Given the description of an element on the screen output the (x, y) to click on. 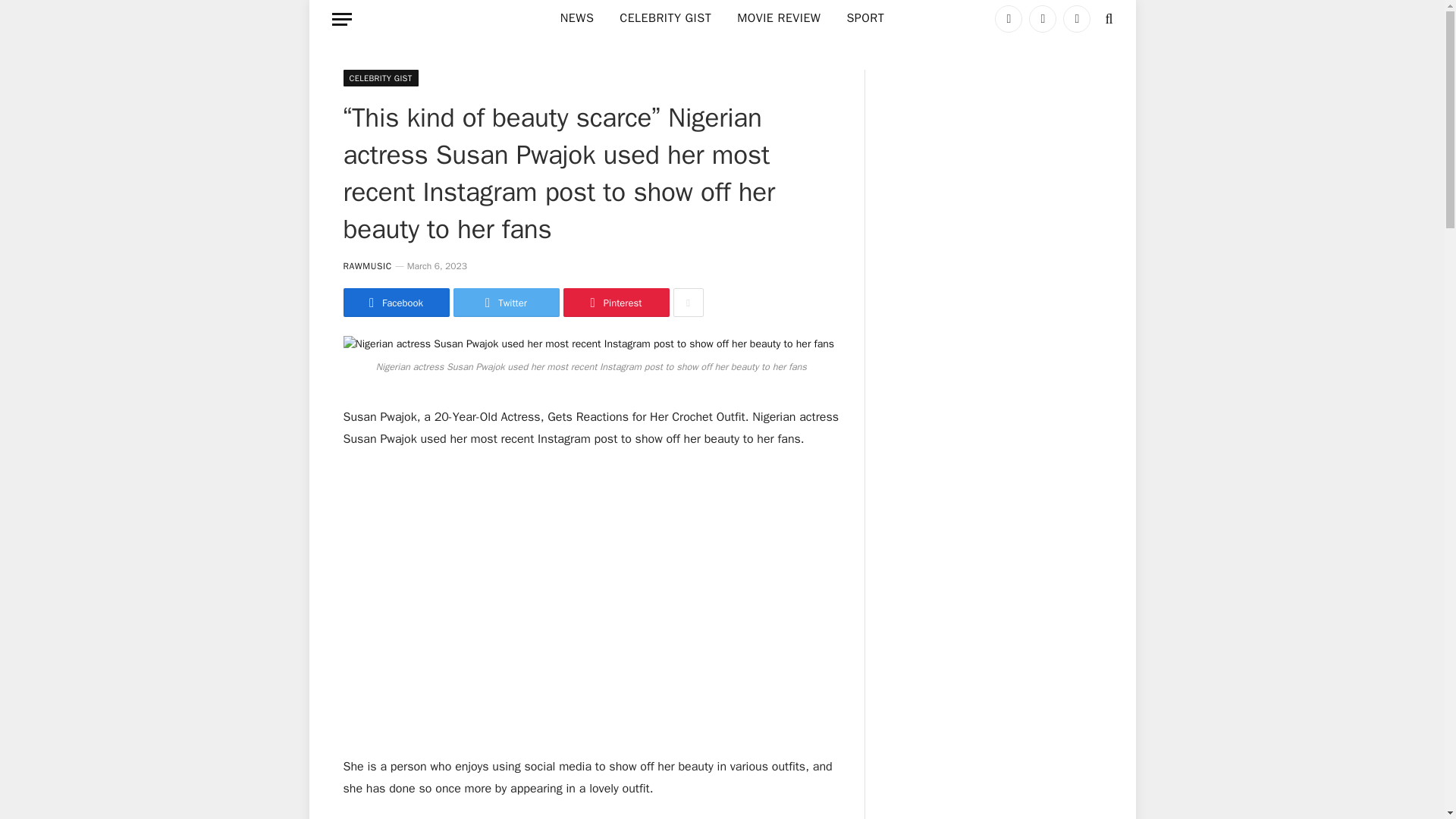
Facebook (1008, 18)
NEWS (577, 18)
RAWMUSIC (366, 265)
SPORT (864, 18)
Show More Social Sharing (687, 302)
RAWLOADED (377, 18)
CELEBRITY GIST (379, 77)
Pinterest (615, 302)
CELEBRITY GIST (665, 18)
Twitter (505, 302)
Instagram (1076, 18)
Share on Pinterest (615, 302)
Posts by RAWMUSIC (366, 265)
Search (1107, 18)
Facebook (395, 302)
